Given the description of an element on the screen output the (x, y) to click on. 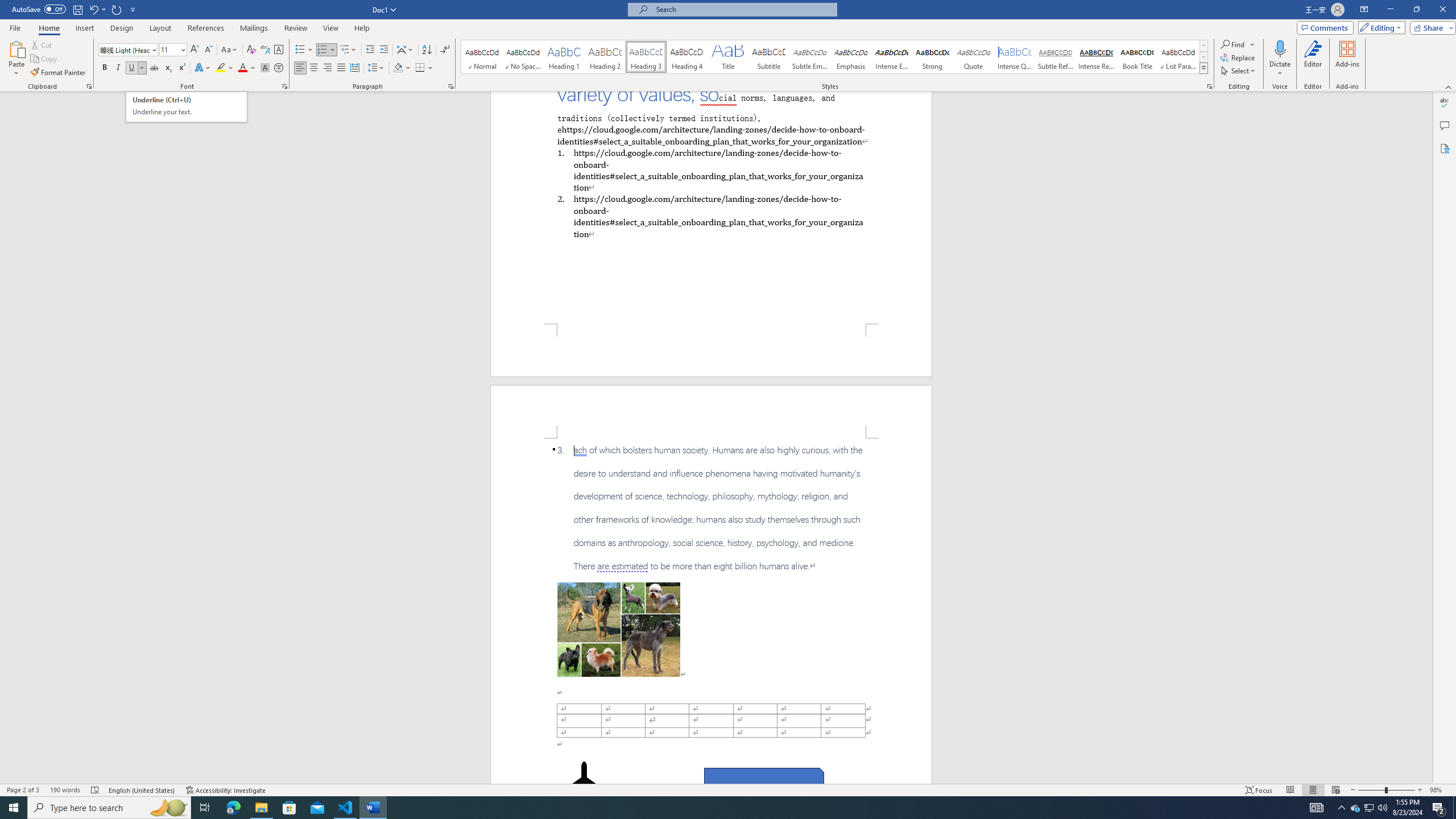
Heading 3 (646, 56)
